Given the description of an element on the screen output the (x, y) to click on. 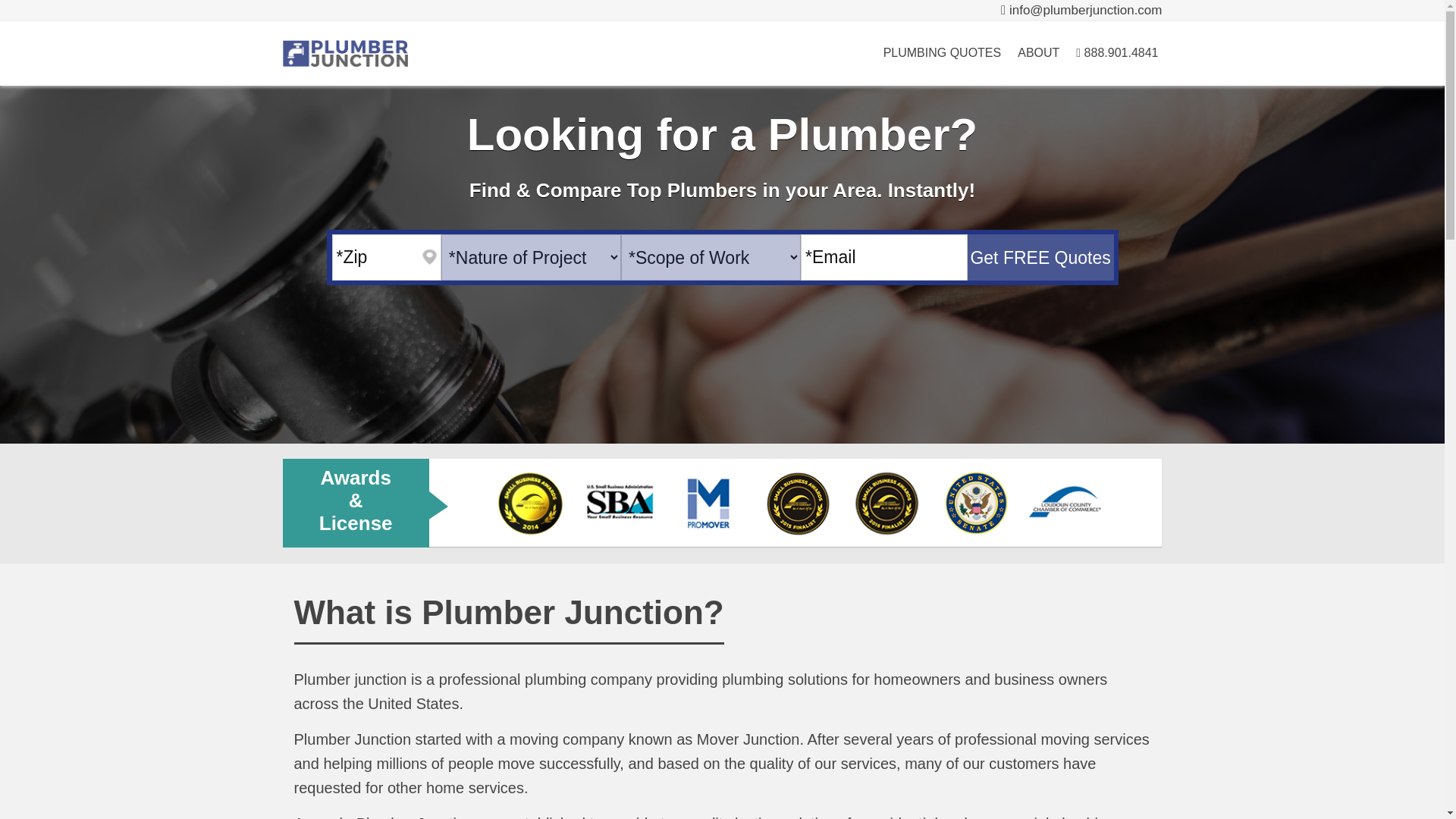
ABOUT (1037, 53)
Enter your email (884, 257)
logo (344, 53)
888.901.4841 (1116, 53)
Get FREE Quotes (1040, 257)
Enter 5 digit zip code  (386, 257)
PLUMBING QUOTES (942, 53)
